Given the description of an element on the screen output the (x, y) to click on. 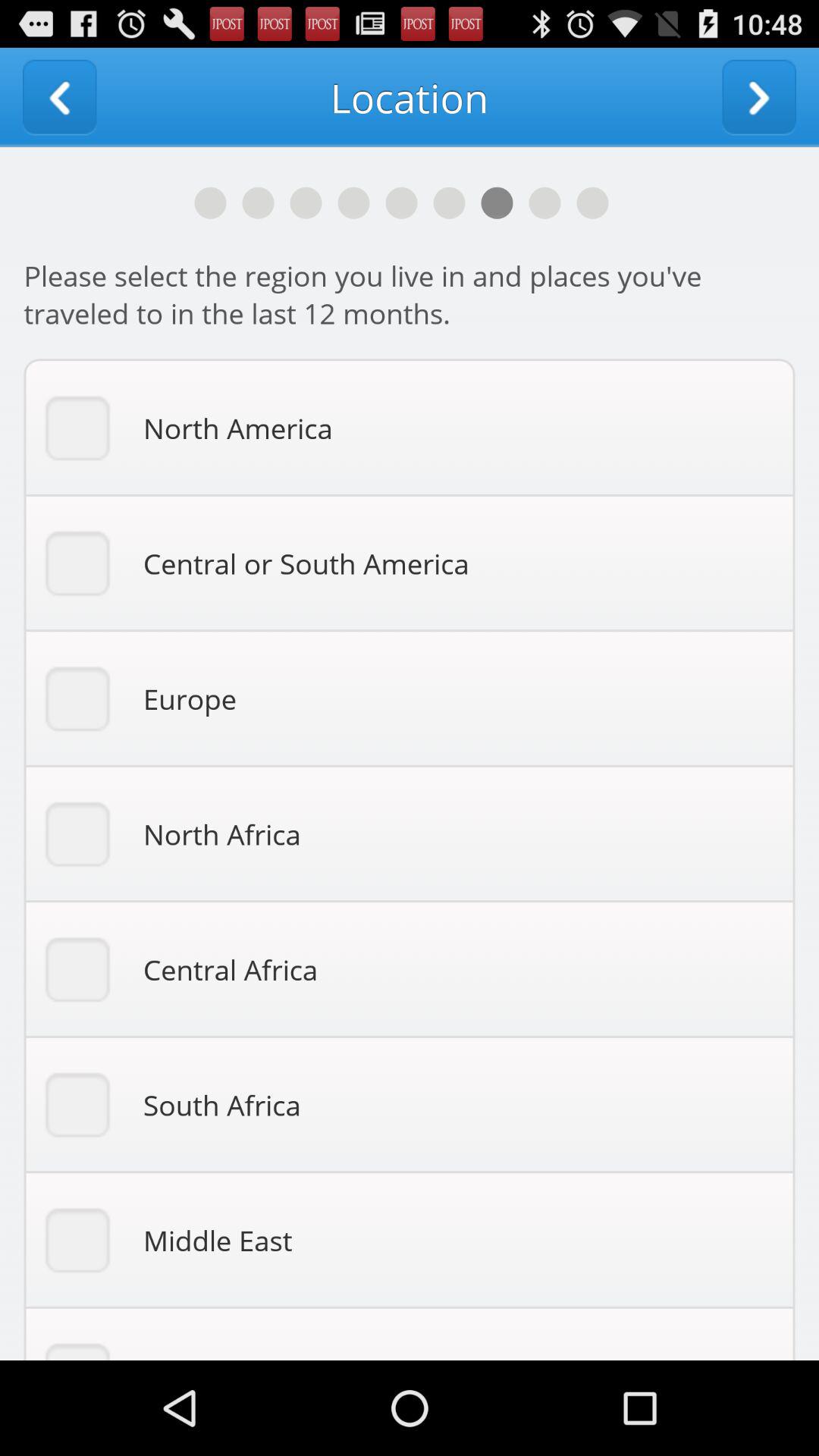
go back (59, 97)
